Given the description of an element on the screen output the (x, y) to click on. 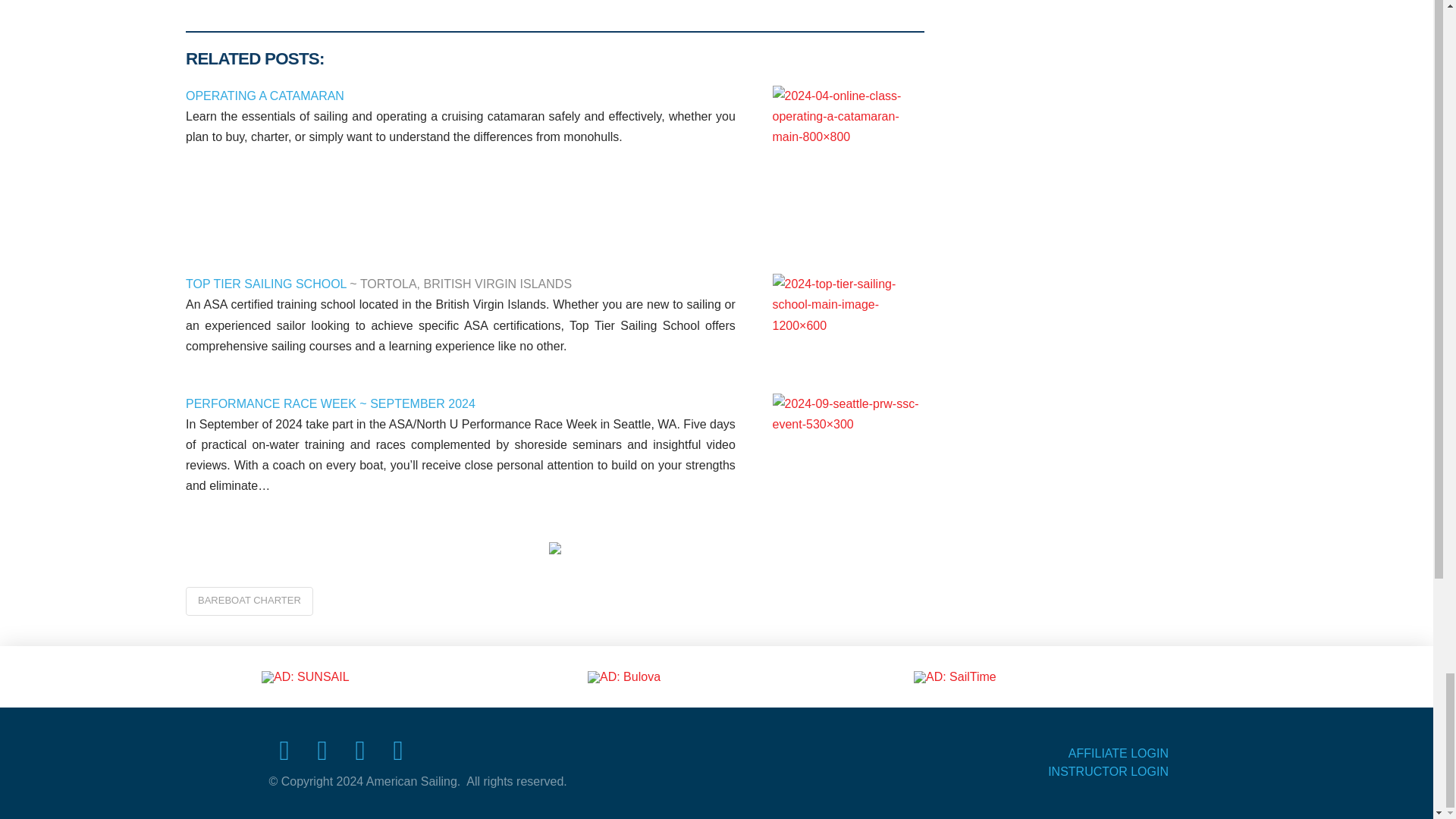
Operating A Catamaran (848, 161)
Top Tier Sailing School (848, 311)
2024 PRW Seattle (848, 436)
